Given the description of an element on the screen output the (x, y) to click on. 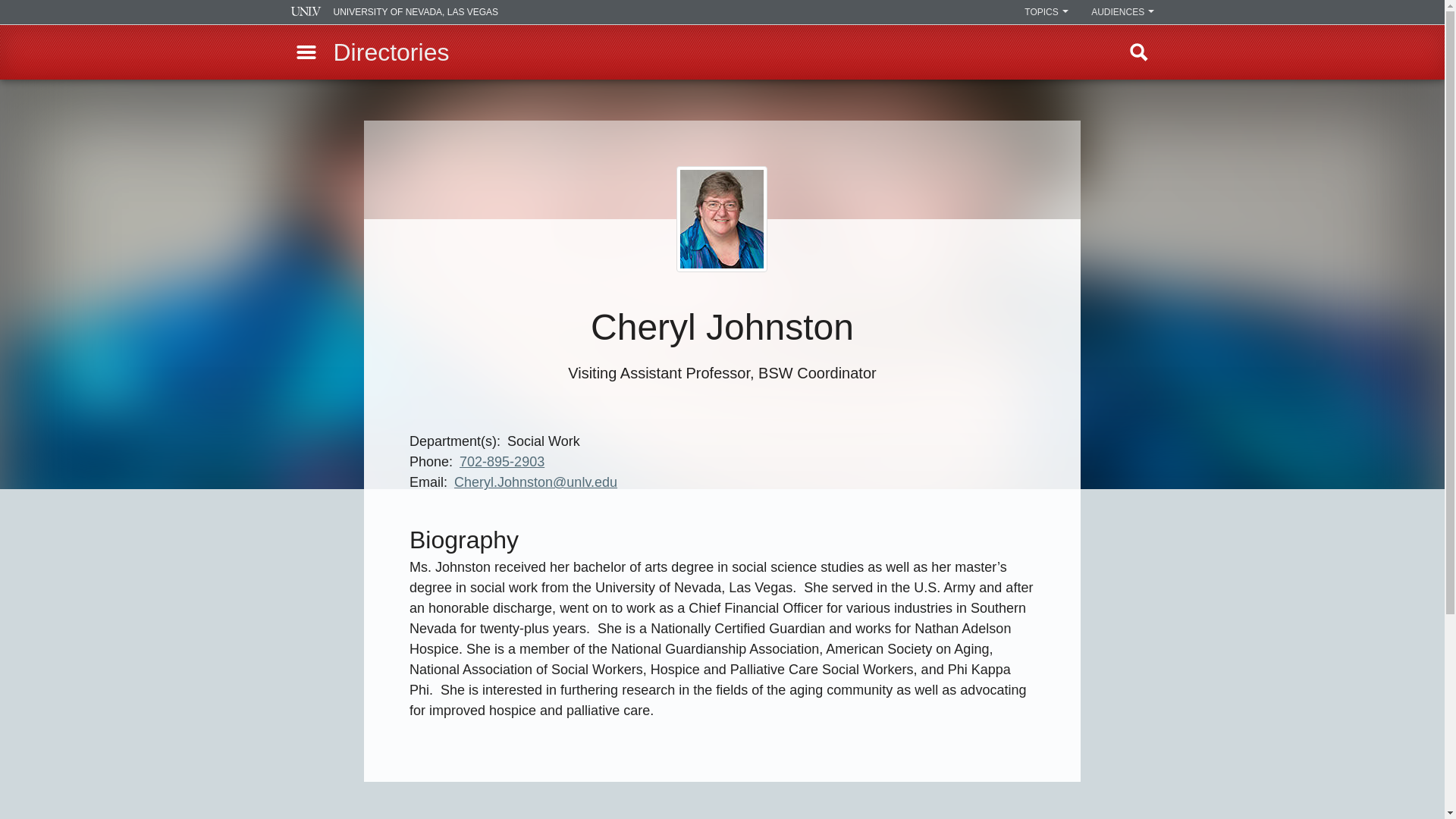
Directories (391, 51)
UNIVERSITY OF NEVADA, LAS VEGAS (395, 11)
Find (1139, 52)
TOPICS (1046, 12)
AUDIENCES (1123, 12)
